Given the description of an element on the screen output the (x, y) to click on. 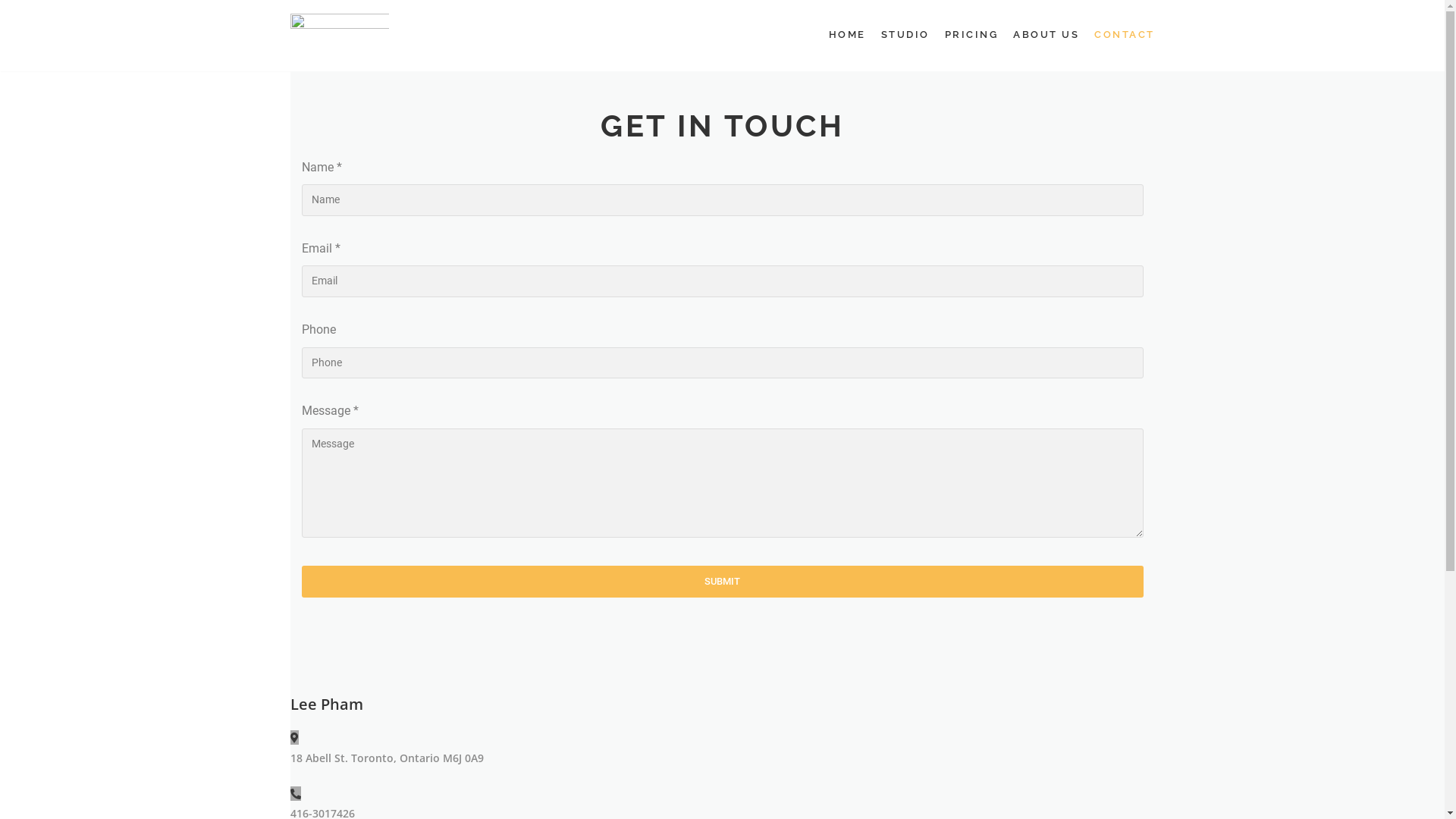
STUDIO Element type: text (905, 34)
Skip to content Element type: text (15, 31)
PRICING Element type: text (971, 34)
CONTACT Element type: text (1124, 34)
18 Abell Studio Element type: hover (338, 35)
HOME Element type: text (846, 34)
ABOUT US Element type: text (1046, 34)
SUBMIT Element type: text (722, 581)
